Given the description of an element on the screen output the (x, y) to click on. 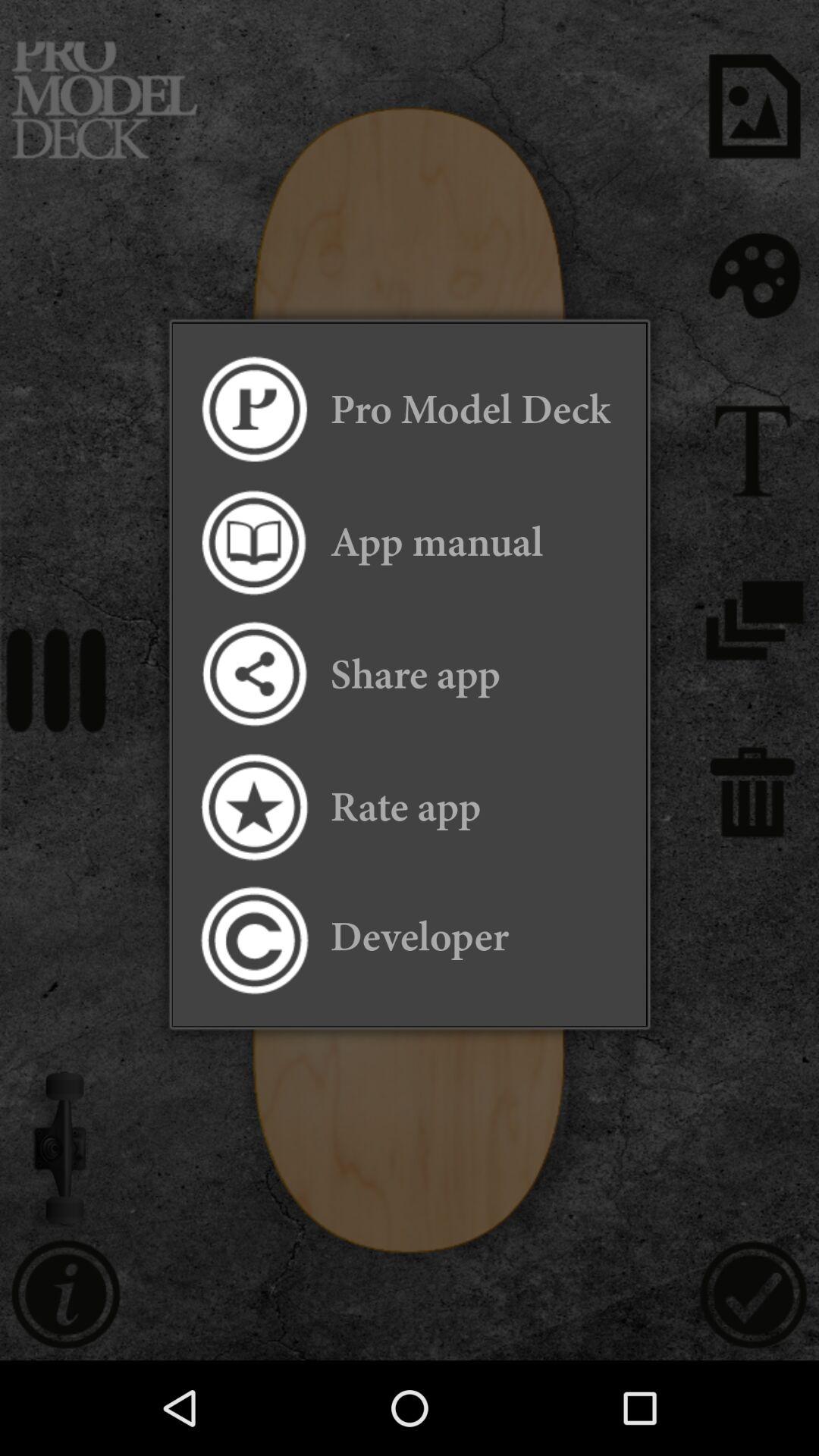
press app to the left of the share app (253, 674)
